Given the description of an element on the screen output the (x, y) to click on. 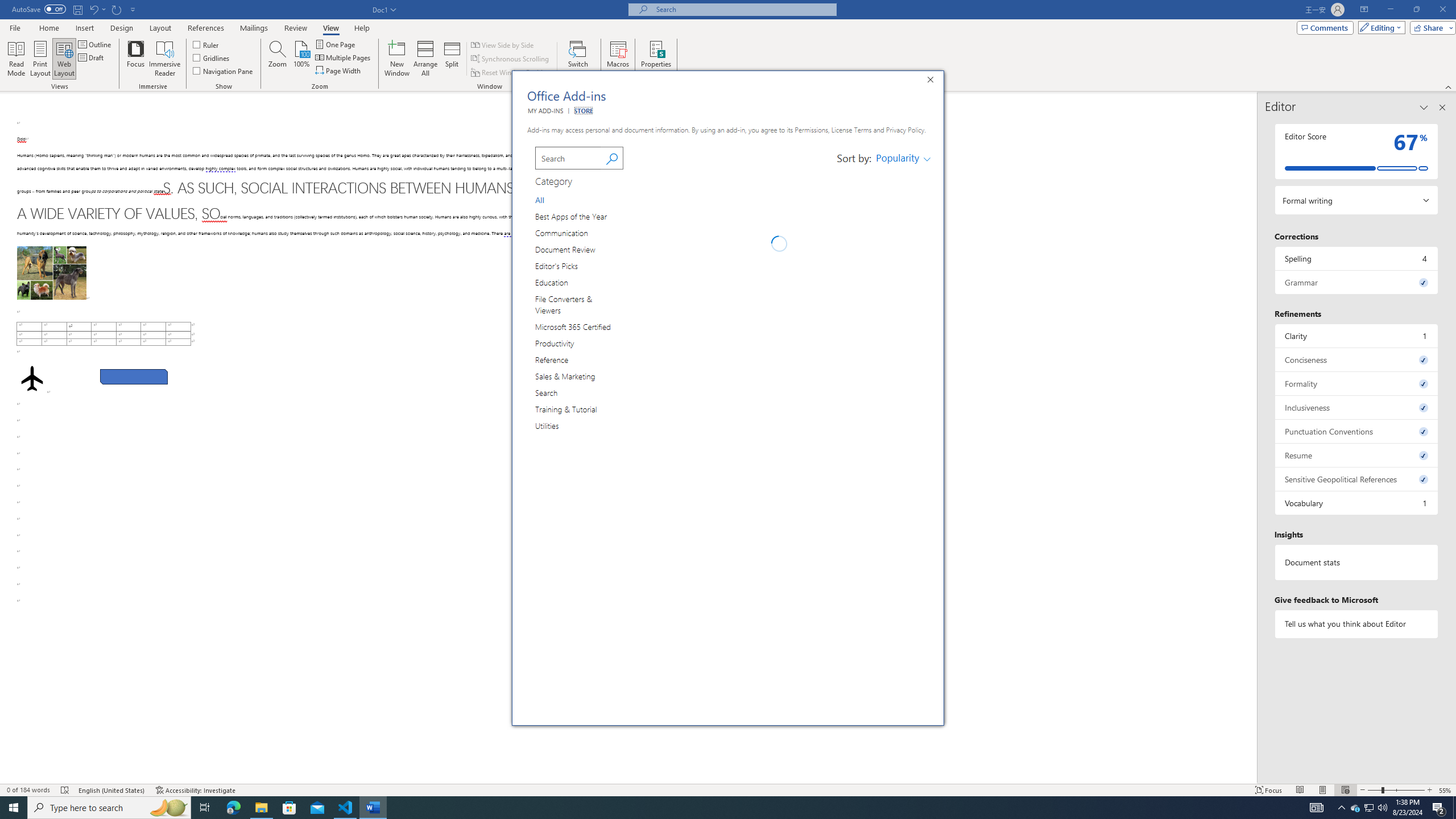
Clarity, 1 issue. Press space or enter to review items. (1356, 335)
Page Width (338, 69)
Add Microsoft Dynamics Office Add-in (902, 438)
Focus (135, 58)
Navigation Pane (223, 69)
Category Group File Converters & Viewers 7 of 14 (579, 304)
